Given the description of an element on the screen output the (x, y) to click on. 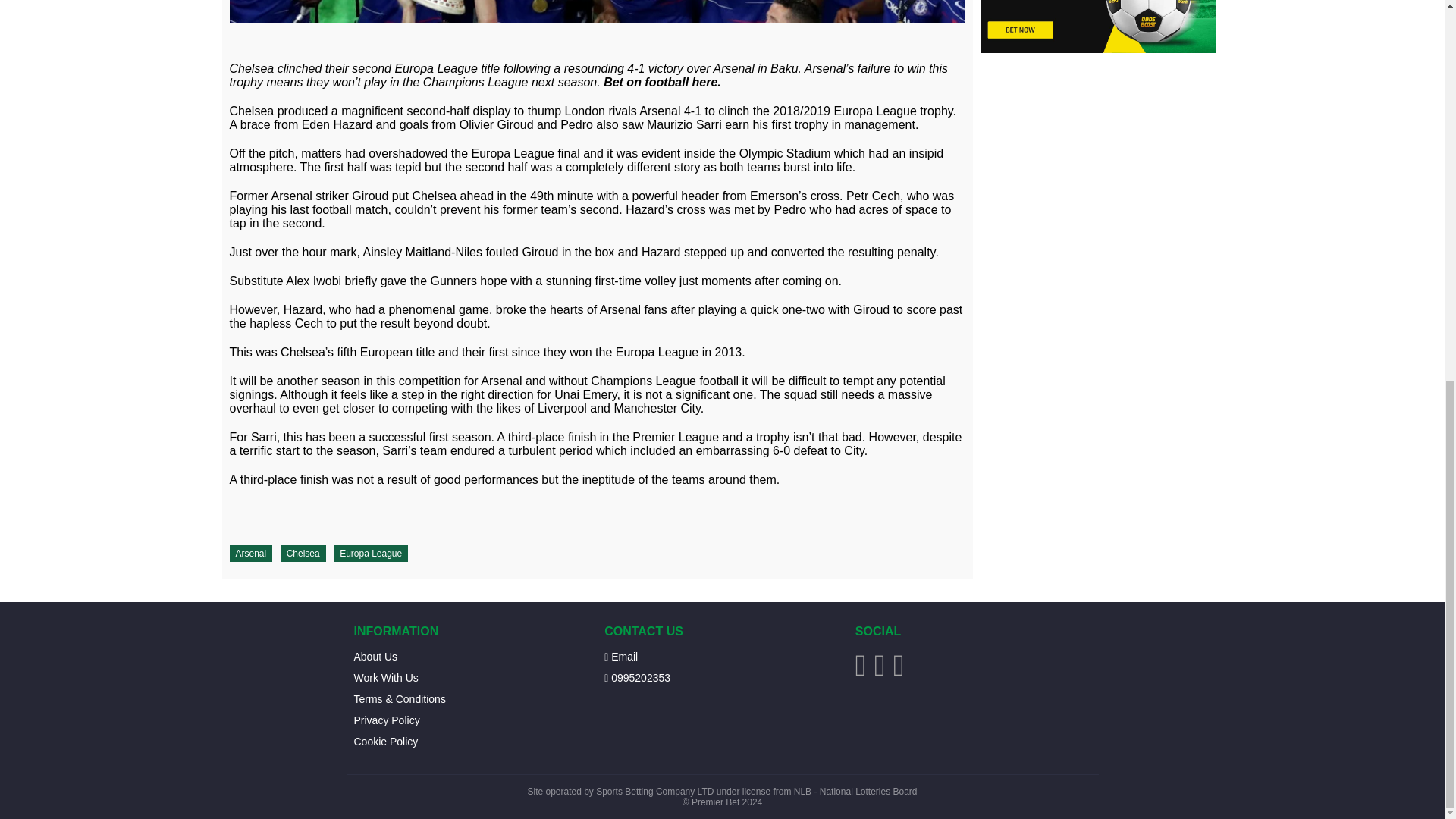
Bet on football here. (662, 82)
Work With Us (385, 676)
Privacy Policy (386, 719)
Cookie Policy (385, 740)
About Us (375, 655)
0995202353 (636, 676)
Europa League (370, 553)
Europa League Final - Chelsea v Arsenal (595, 11)
Email (620, 655)
Chelsea (303, 553)
Arsenal (250, 553)
